Given the description of an element on the screen output the (x, y) to click on. 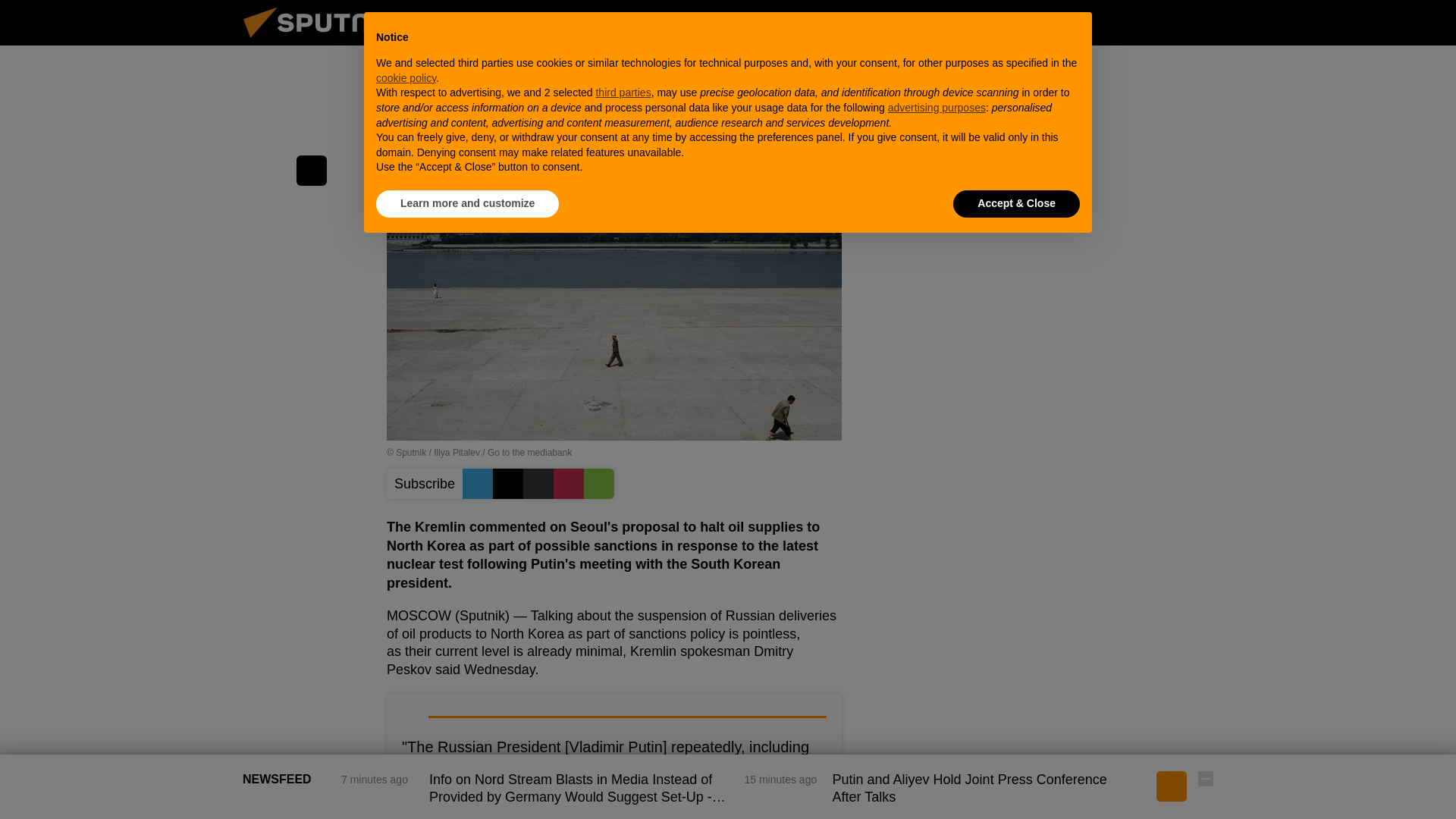
Sputnik International (325, 41)
Authorization (1129, 22)
Chats (1206, 22)
